Given the description of an element on the screen output the (x, y) to click on. 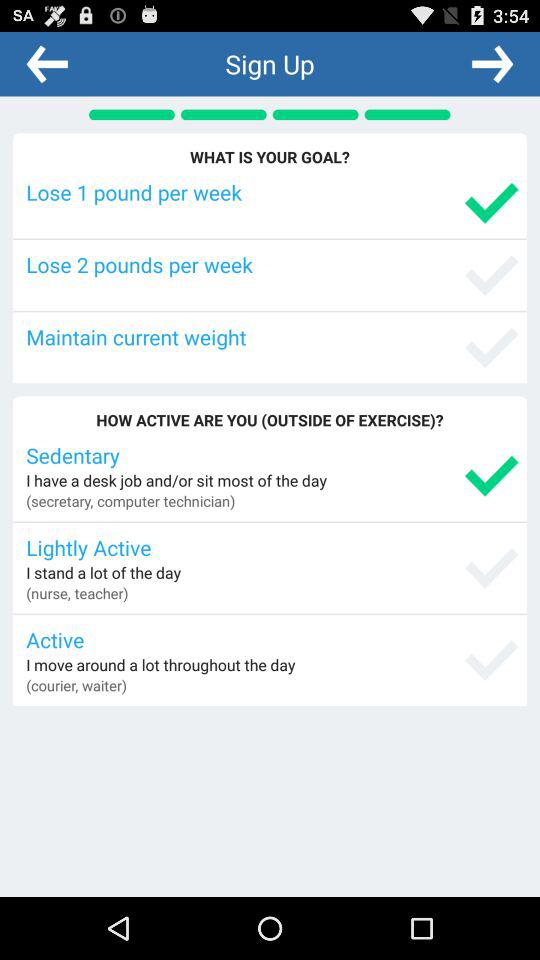
tap the (courier, waiter) item (76, 685)
